Given the description of an element on the screen output the (x, y) to click on. 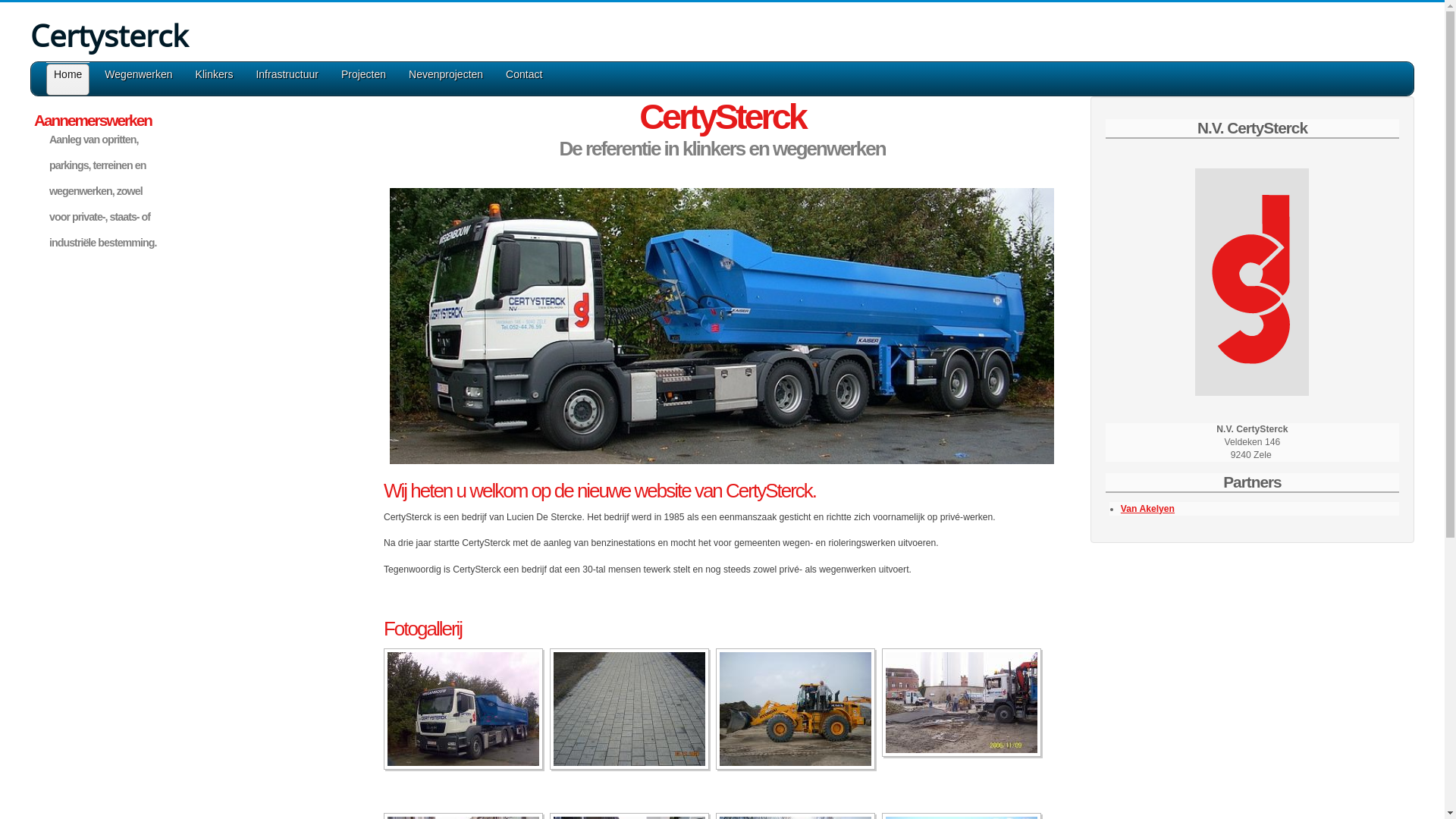
Van Akelyen Element type: text (1147, 508)
Nevenprojecten Element type: text (445, 80)
Wegenwerken Element type: text (138, 80)
Certysterck Element type: text (109, 35)
Klinkers Element type: text (214, 80)
web_CertySterck_Home_014.JPG Element type: hover (462, 708)
web_CertySterck_Home_015.JPG Element type: hover (795, 708)
Projecten Element type: text (363, 80)
Home Element type: text (67, 80)
web_CertSterck_Klinkers07.JPG Element type: hover (629, 708)
web_CertySterck_Home_012.JPG Element type: hover (961, 702)
Infrastructuur Element type: text (286, 80)
Contact Element type: text (523, 80)
